Given the description of an element on the screen output the (x, y) to click on. 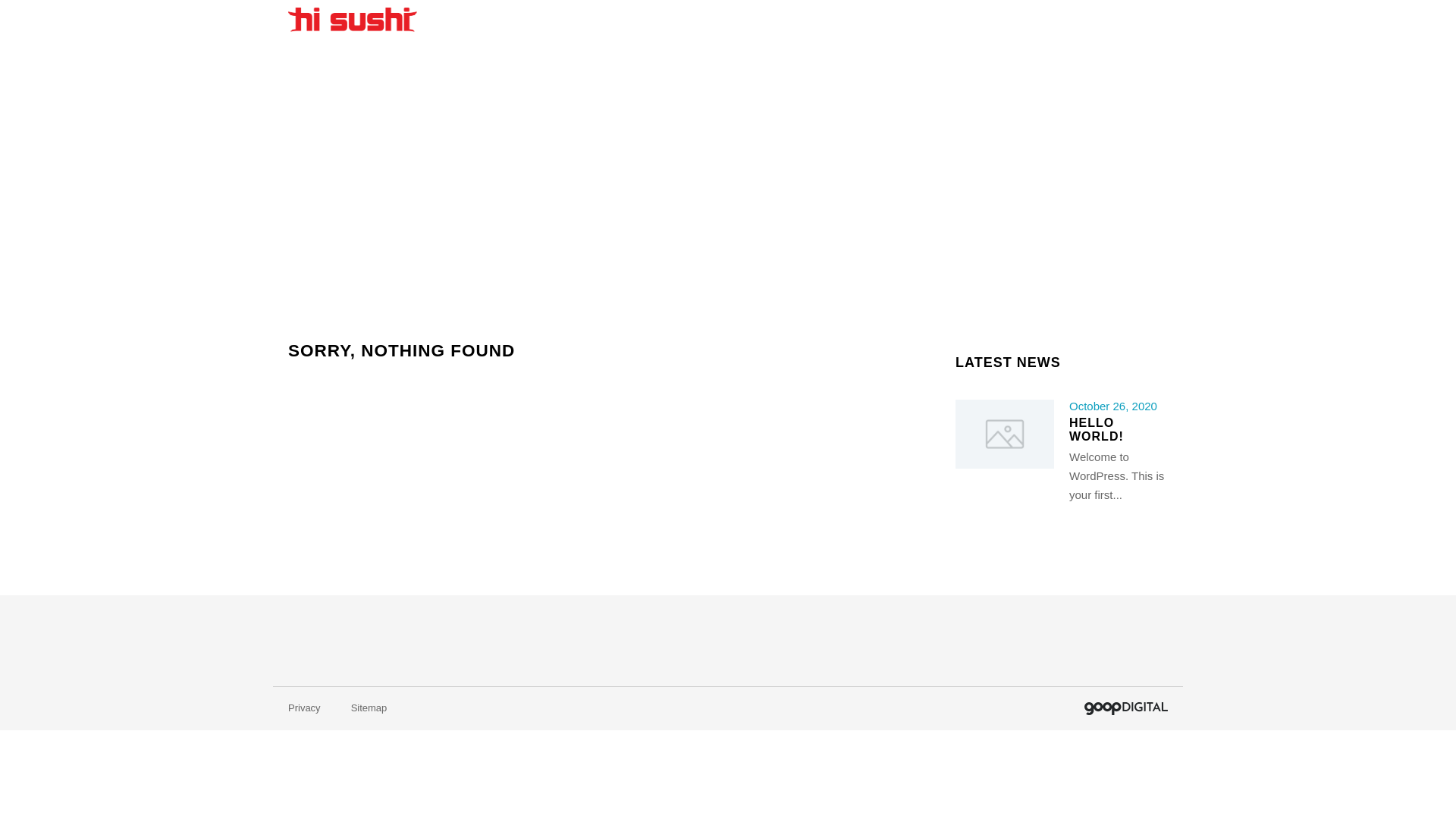
Sitemap Element type: text (369, 707)
Privacy Element type: text (304, 707)
